Given the description of an element on the screen output the (x, y) to click on. 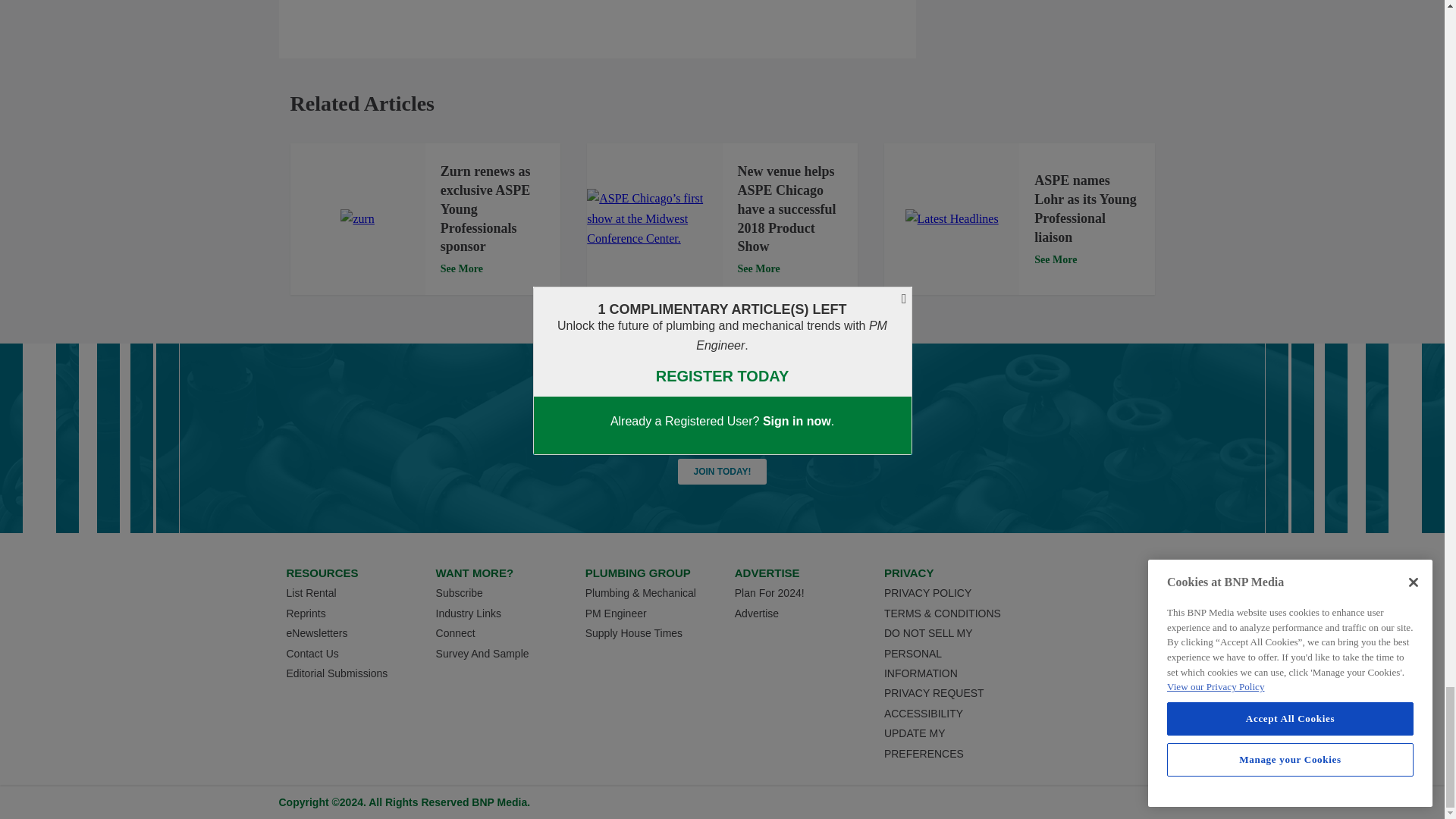
Latest Headlines (951, 219)
